Given the description of an element on the screen output the (x, y) to click on. 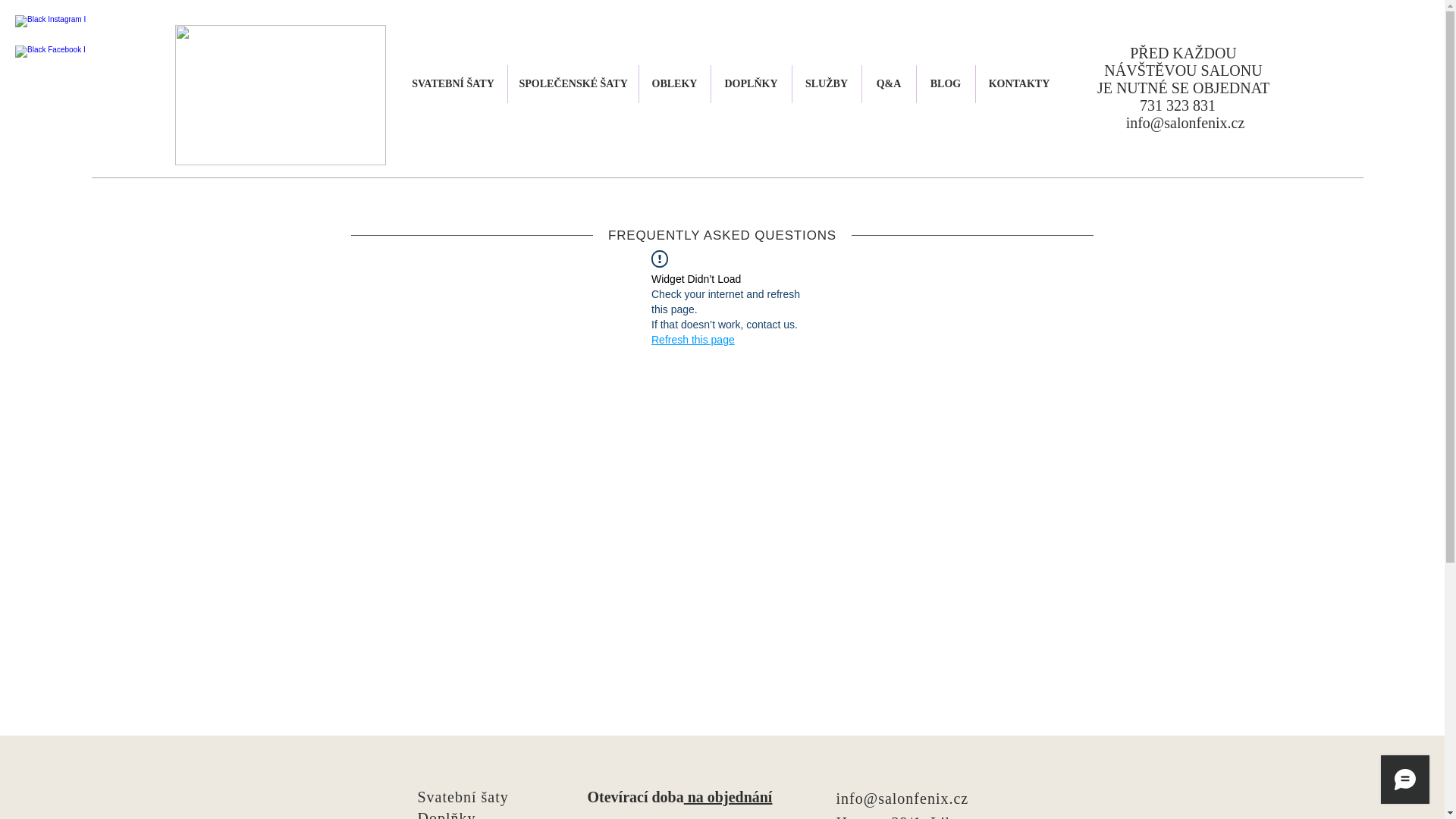
KONTAKTY (1018, 84)
OBLEKY (674, 84)
Refresh this page (692, 339)
BLOG (944, 84)
logo fenix.jpg (279, 95)
